Given the description of an element on the screen output the (x, y) to click on. 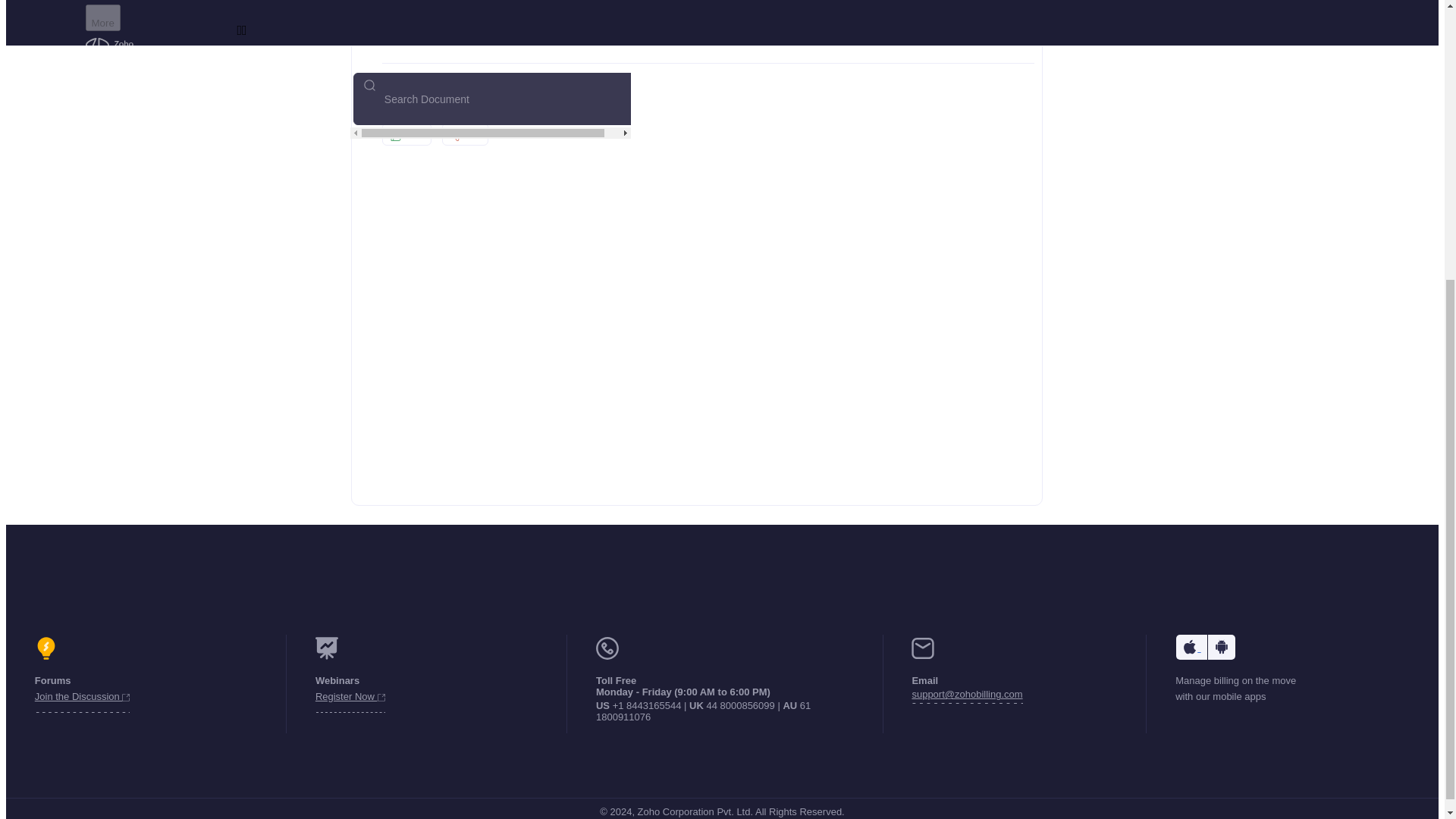
Register Now (350, 699)
Join the Discussion (82, 699)
